Given the description of an element on the screen output the (x, y) to click on. 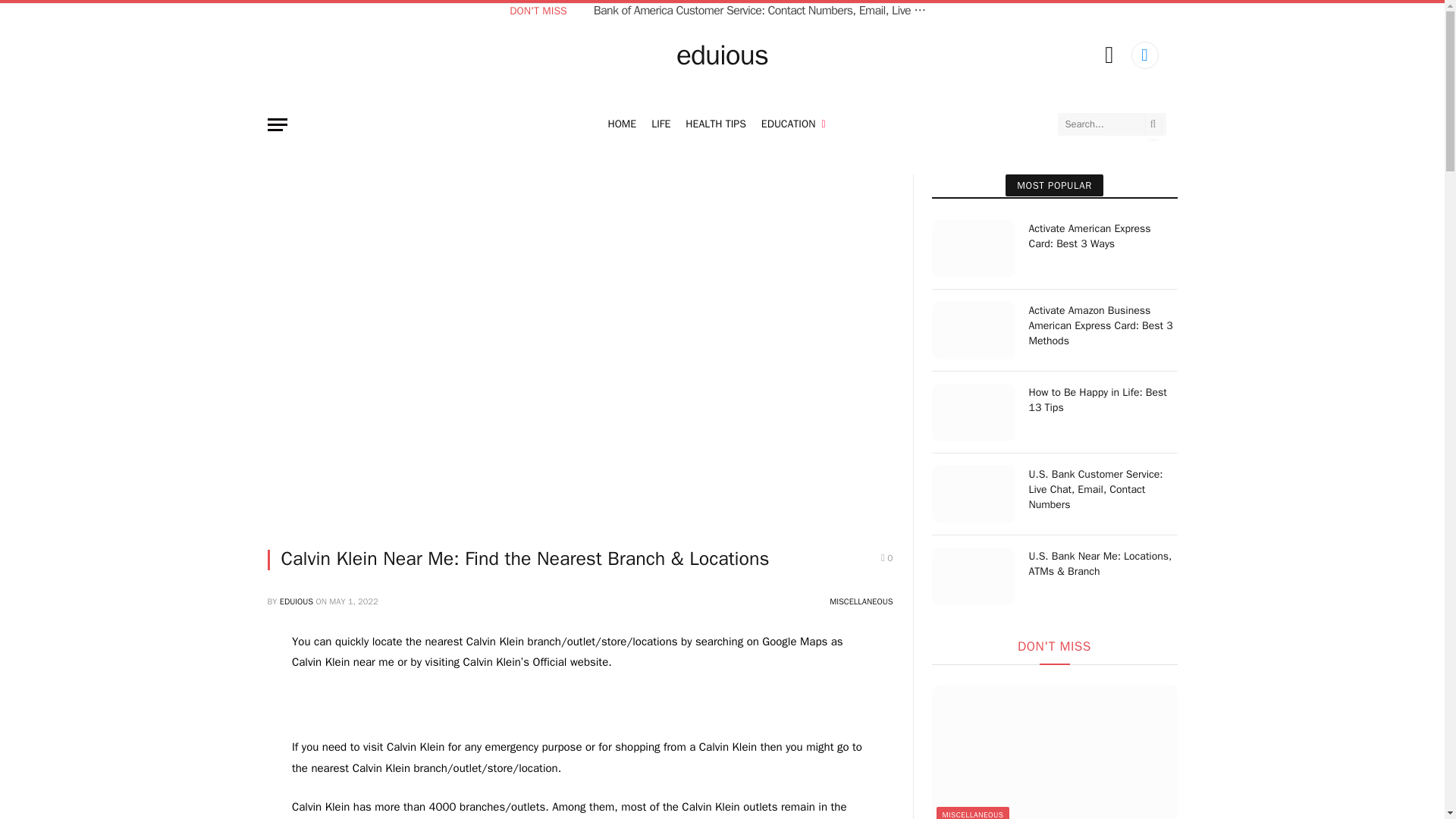
eduious (722, 55)
HEALTH TIPS (715, 124)
Switch to Dark Design - easier on eyes. (1109, 54)
HOME (621, 124)
LIFE (660, 124)
Eduious (722, 55)
EDUCATION (793, 124)
Facebook (1144, 53)
